Given the description of an element on the screen output the (x, y) to click on. 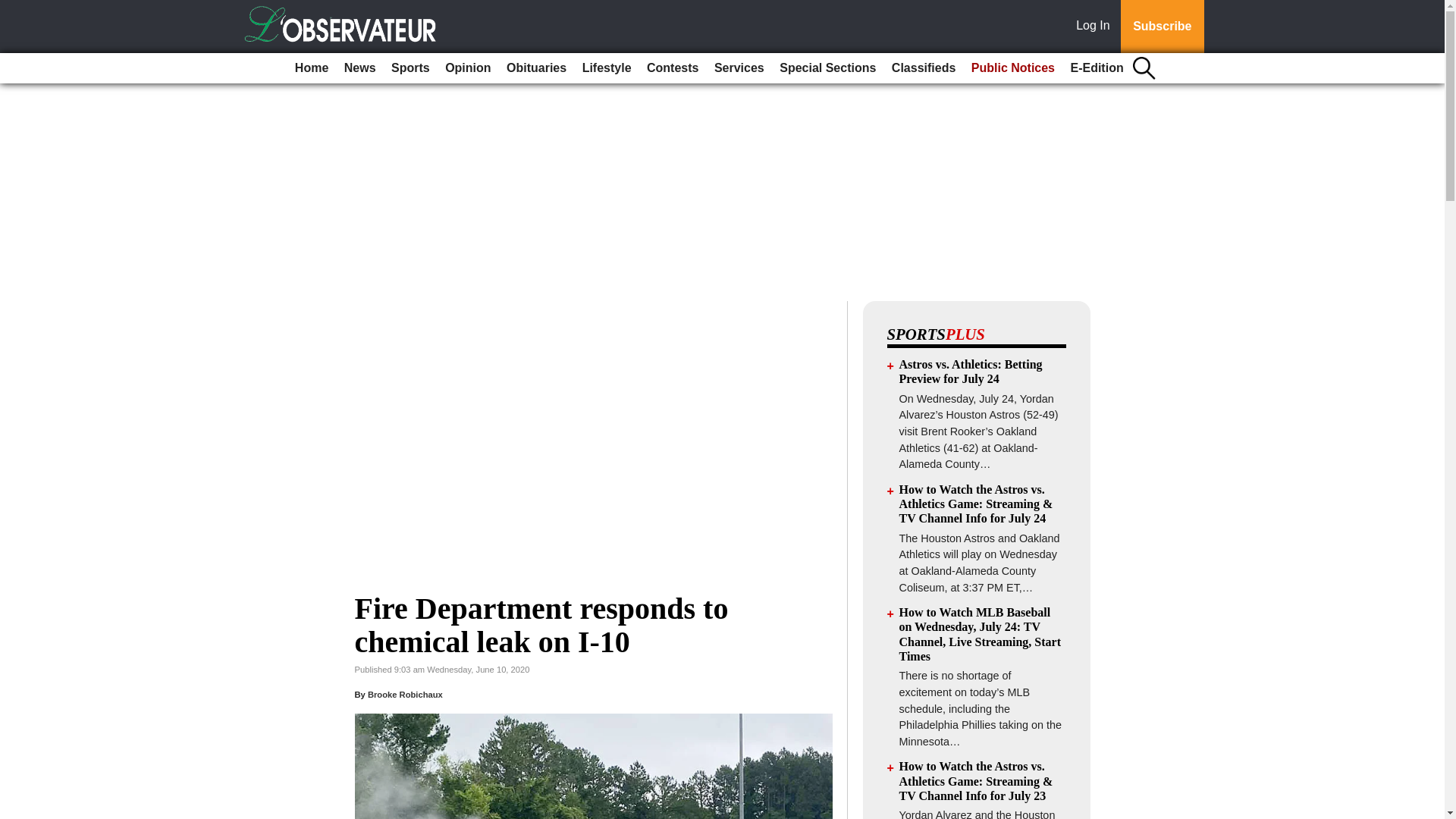
Services (738, 68)
E-Edition (1096, 68)
Go (13, 9)
Classifieds (922, 68)
Log In (1095, 26)
Special Sections (827, 68)
News (359, 68)
Obituaries (536, 68)
Contests (672, 68)
Opinion (467, 68)
Astros vs. Athletics: Betting Preview for July 24 (970, 370)
Sports (410, 68)
Public Notices (1013, 68)
Subscribe (1162, 26)
